Given the description of an element on the screen output the (x, y) to click on. 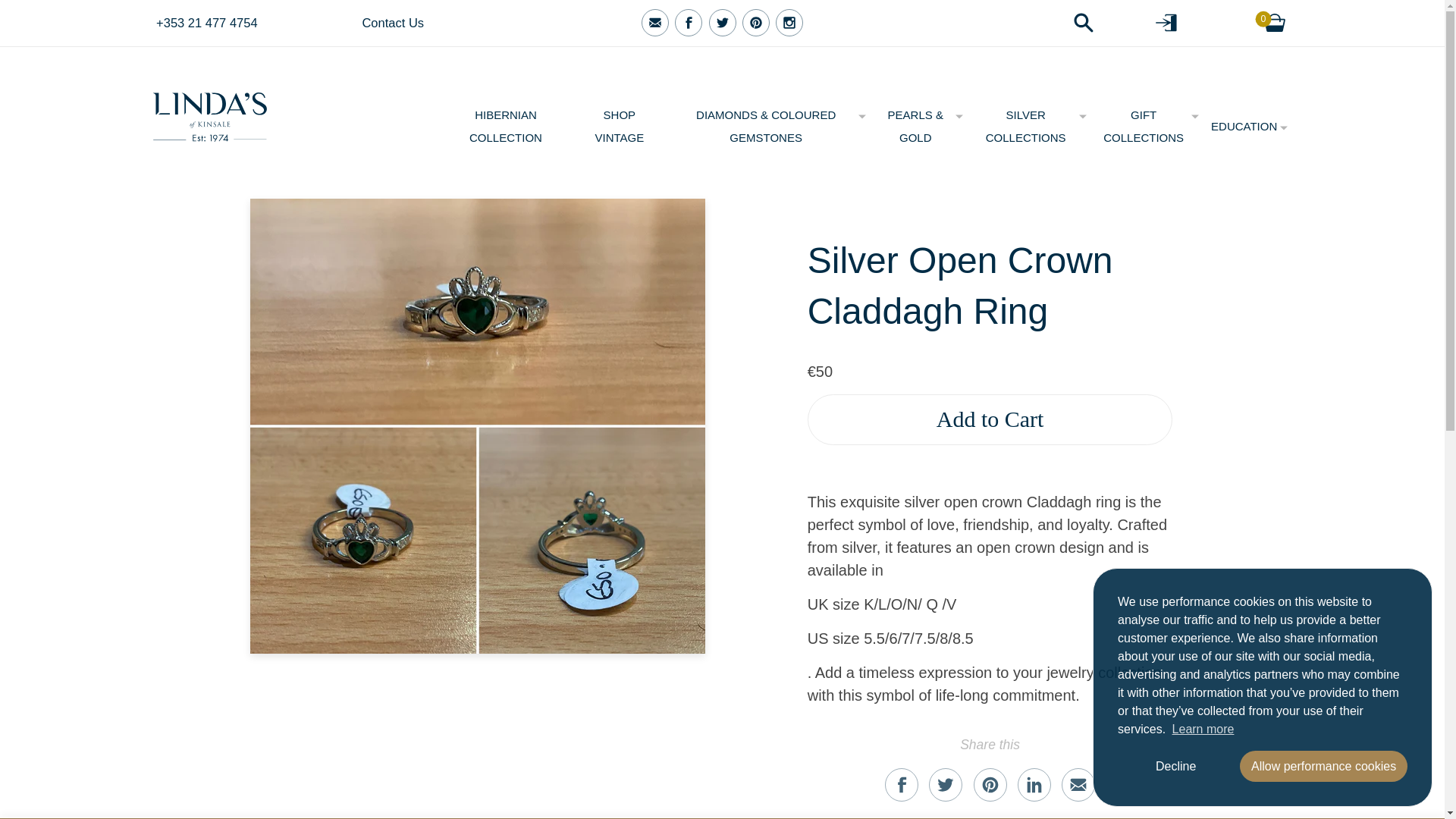
Share on Linkedin (1034, 784)
Share on Twitter (945, 784)
Email to a friend (1077, 784)
Email to a friend (1077, 784)
Log in (1143, 22)
HIBERNIAN COLLECTION (508, 125)
Contact Us (441, 23)
Home (209, 111)
Share on Facebook (901, 784)
Share on Pinterest (990, 784)
SHOP VINTAGE (622, 125)
Share on Facebook (901, 784)
GIFT COLLECTIONS (1146, 125)
Search (1057, 22)
Share on Linked in (1034, 784)
